Given the description of an element on the screen output the (x, y) to click on. 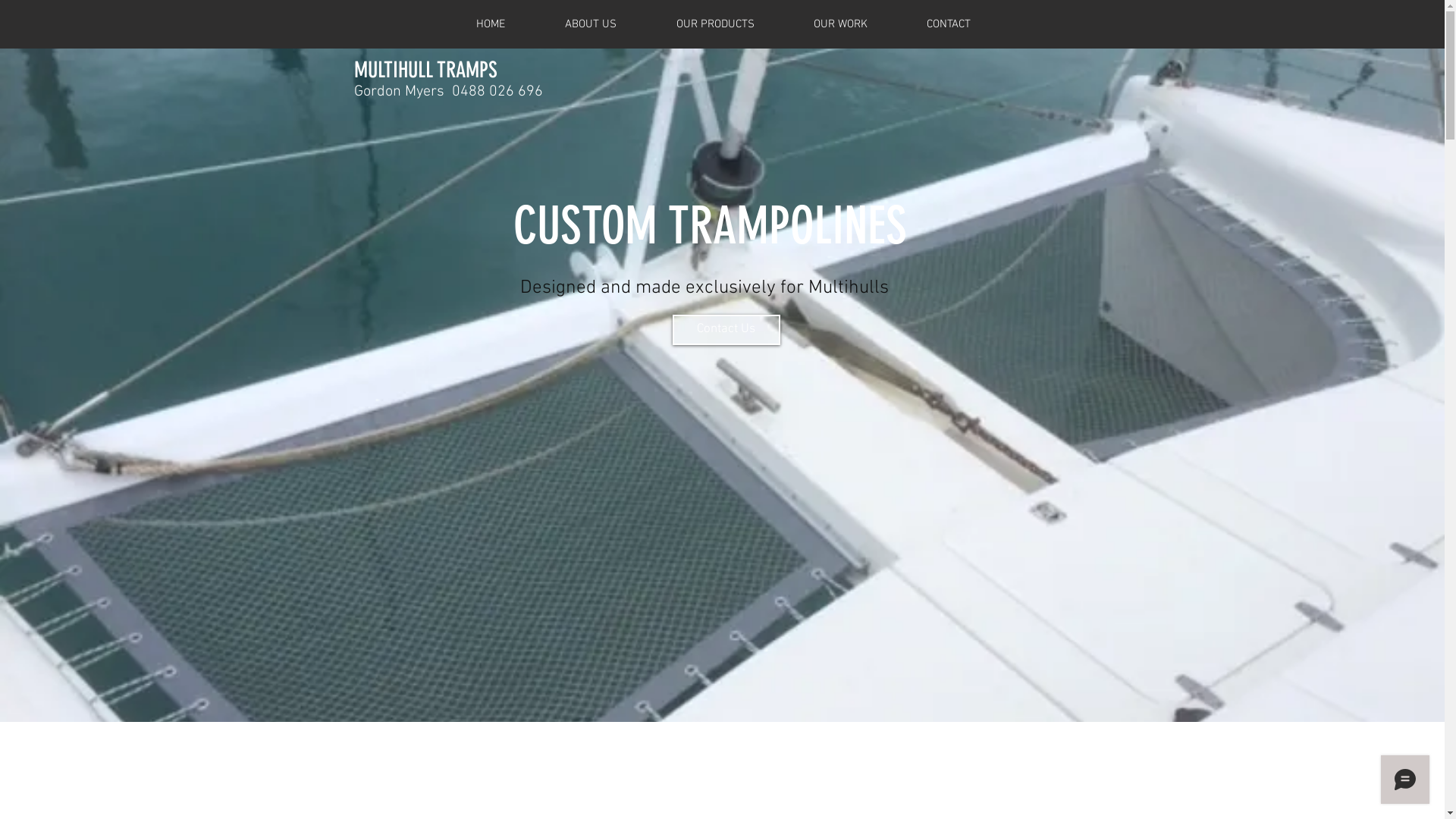
ABOUT US Element type: text (590, 24)
OUR WORK Element type: text (840, 24)
Contact Us Element type: text (725, 328)
HOME Element type: text (489, 24)
OUR PRODUCTS Element type: text (714, 24)
CUSTOM TRAMPOLINES Element type: text (709, 225)
CONTACT Element type: text (947, 24)
